Given the description of an element on the screen output the (x, y) to click on. 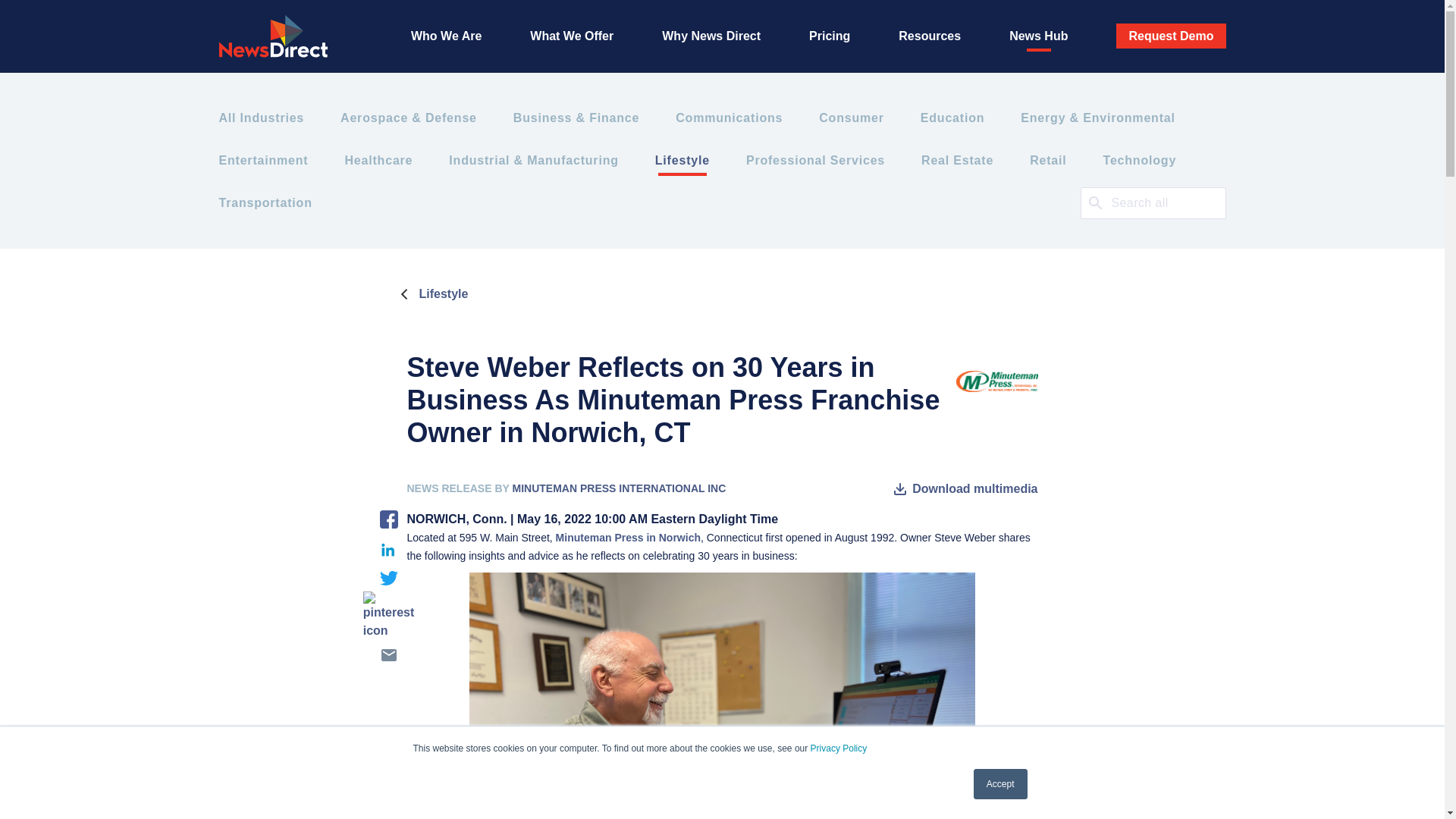
Healthcare (377, 160)
Technology (1139, 160)
Communications (729, 117)
Real Estate (956, 160)
Pricing (829, 36)
Education (952, 117)
All Industries (261, 117)
Transportation (264, 203)
Retail (1047, 160)
Lifestyle (430, 294)
Professional Services (815, 160)
Lifestyle (682, 160)
Accept (1000, 784)
Request Demo (1170, 35)
Consumer (850, 117)
